Given the description of an element on the screen output the (x, y) to click on. 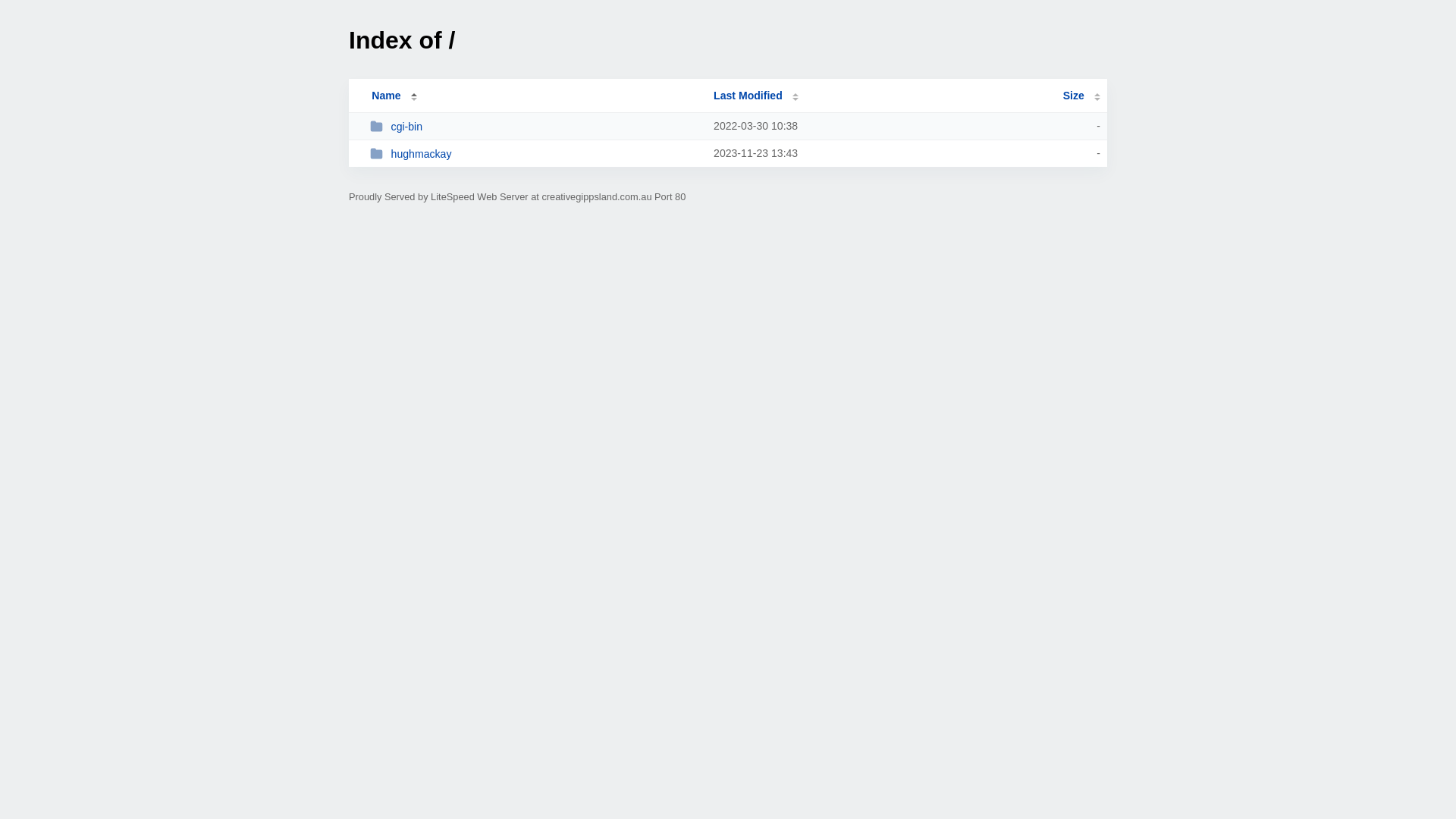
hughmackay Element type: text (534, 153)
Name Element type: text (385, 95)
cgi-bin Element type: text (534, 125)
Last Modified Element type: text (755, 95)
Size Element type: text (1081, 95)
